Given the description of an element on the screen output the (x, y) to click on. 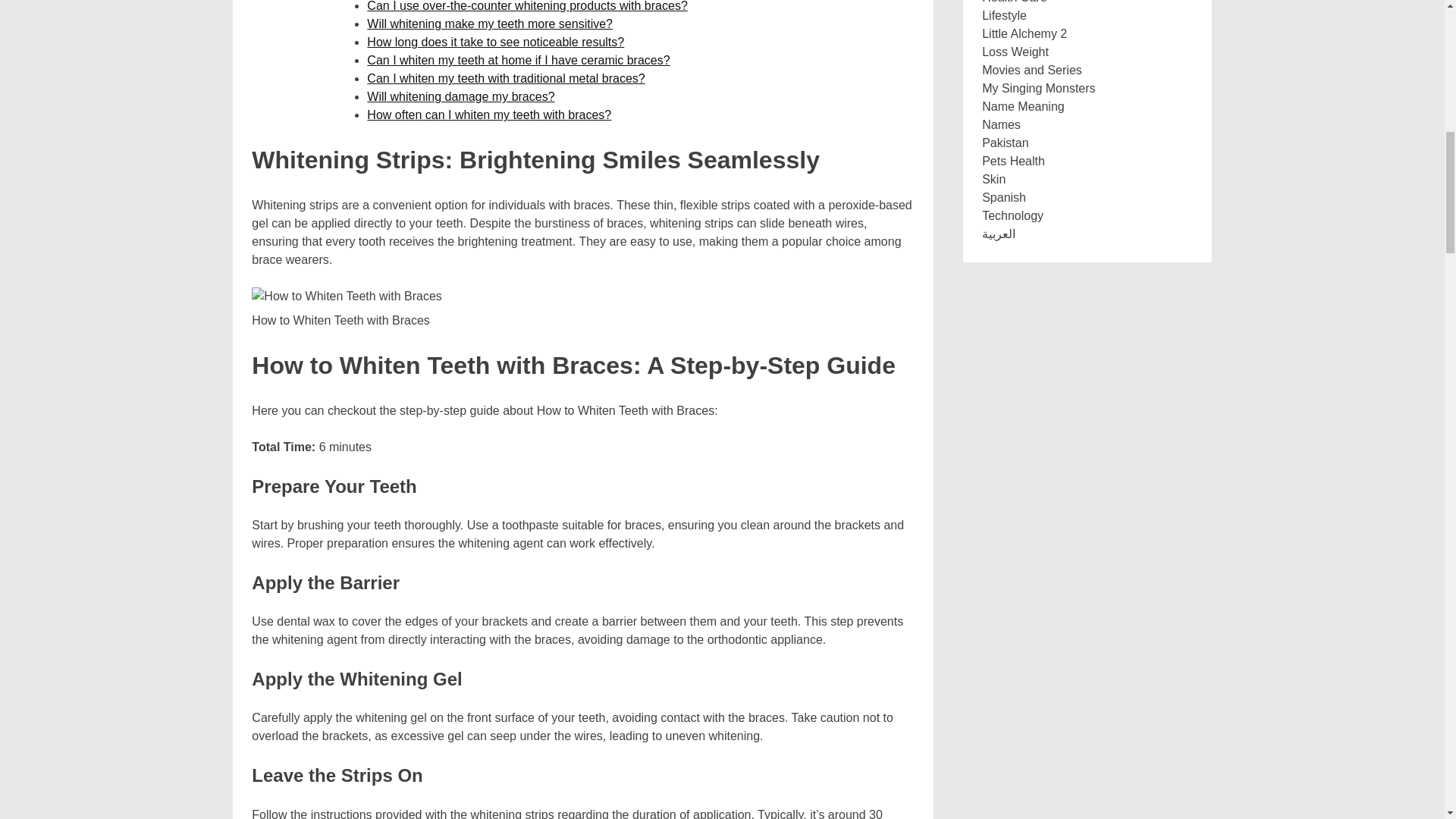
How to Whiten Teeth with Braces: A Comprehensive Guide 2023 (346, 296)
